Given the description of an element on the screen output the (x, y) to click on. 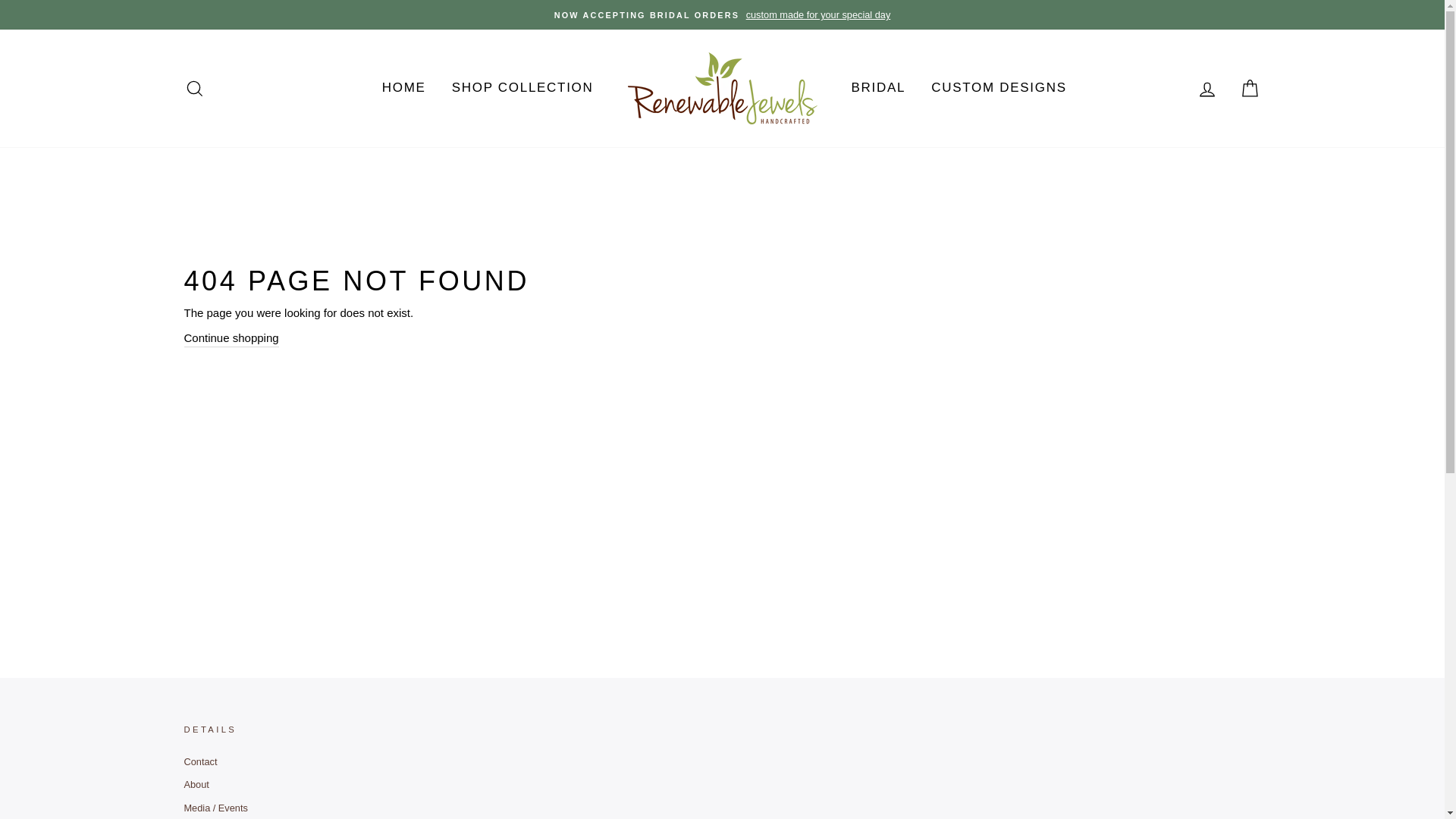
SEARCH (194, 88)
NOW ACCEPTING BRIDAL ORDERS custom made for your special day (722, 14)
HOME (404, 88)
SHOP COLLECTION (523, 88)
BRIDAL (878, 88)
